Given the description of an element on the screen output the (x, y) to click on. 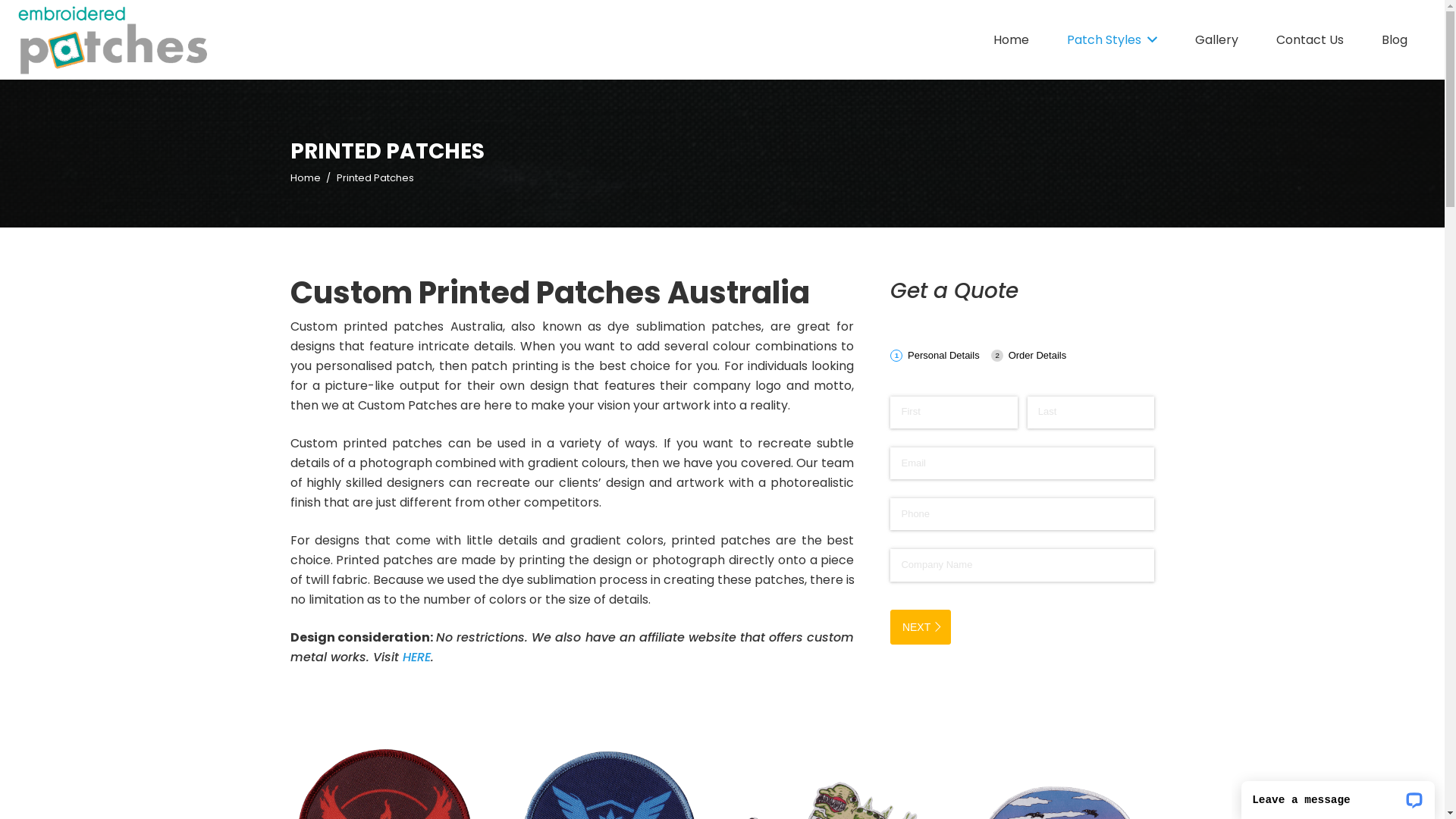
Gallery Element type: text (1216, 39)
Home Element type: text (1011, 39)
NEXT Element type: text (920, 626)
Patch Styles Element type: text (1112, 39)
Order Details Element type: text (1033, 354)
Home Element type: text (304, 177)
First Element type: hover (953, 412)
Blog Element type: text (1394, 39)
Printed Patches Element type: text (375, 177)
Personal Details Element type: text (939, 354)
Last Element type: hover (1090, 412)
Contact Us Element type: text (1309, 39)
HERE Element type: text (415, 656)
